Given the description of an element on the screen output the (x, y) to click on. 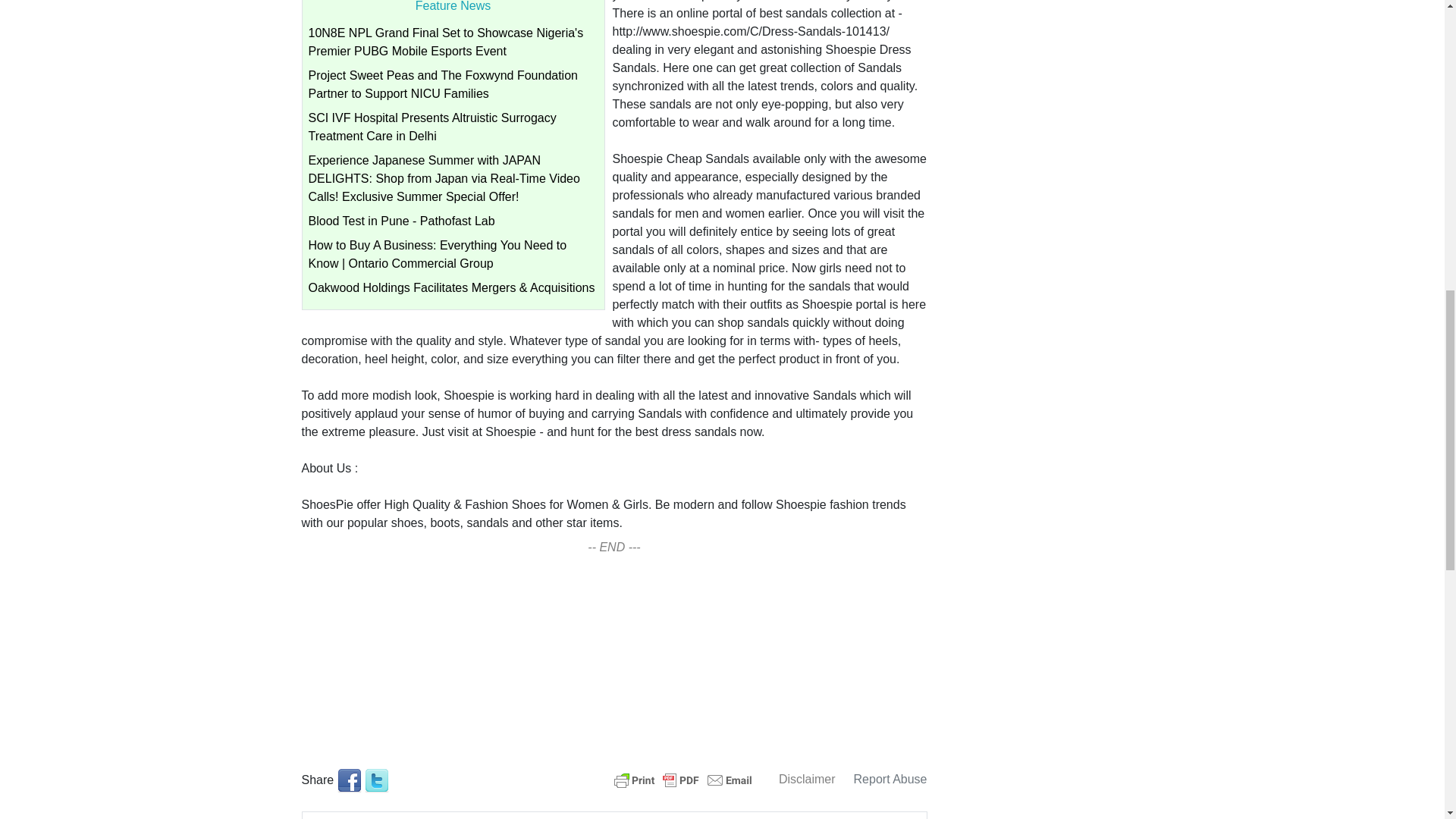
Advertisement (614, 656)
Printer Friendly and PDF (683, 779)
Blood Test in Pune - Pathofast Lab (401, 220)
Disclaimer (806, 779)
Report Abuse (890, 779)
